Given the description of an element on the screen output the (x, y) to click on. 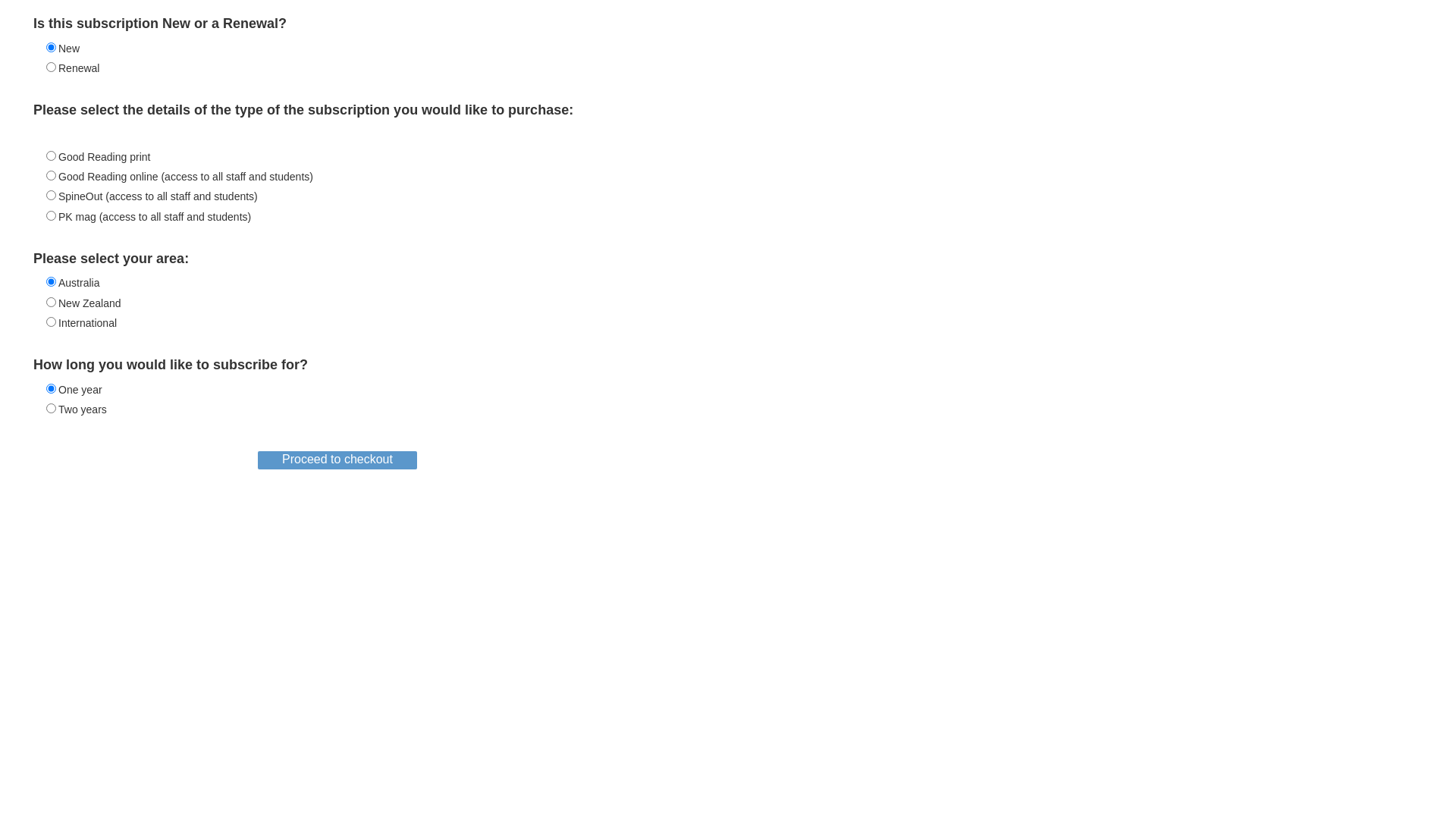
Proceed to checkout Element type: text (337, 460)
NZ Element type: text (51, 302)
5 Element type: text (51, 215)
24 Element type: text (51, 408)
1 Element type: text (51, 155)
INT Element type: text (51, 321)
2 Element type: text (51, 175)
3 Element type: text (51, 195)
